Given the description of an element on the screen output the (x, y) to click on. 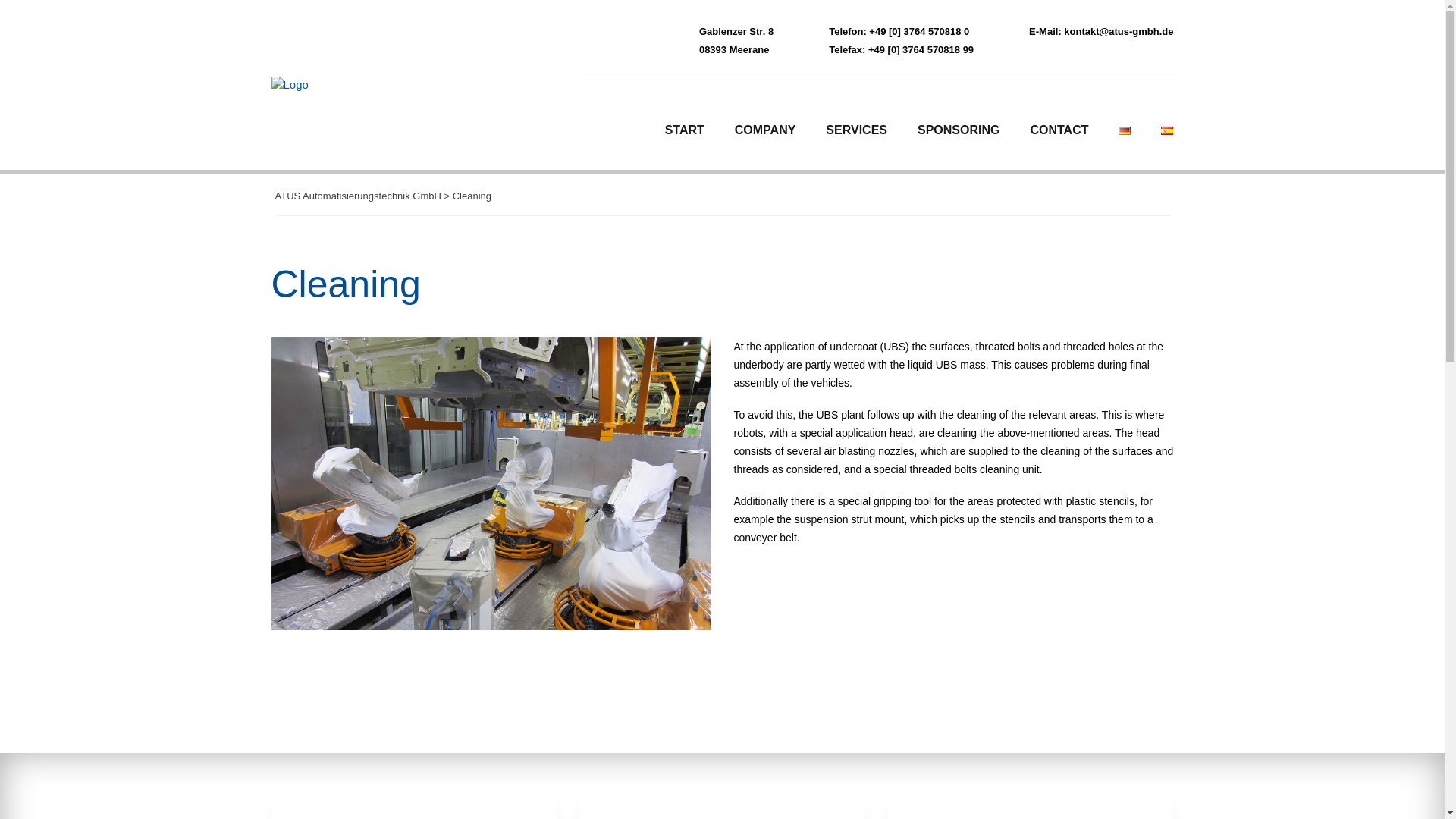
SPONSORING (957, 129)
Go to ATUS Automatisierungstechnik GmbH. (358, 195)
ATUS Automatisierungstechnik GmbH (358, 195)
